Given the description of an element on the screen output the (x, y) to click on. 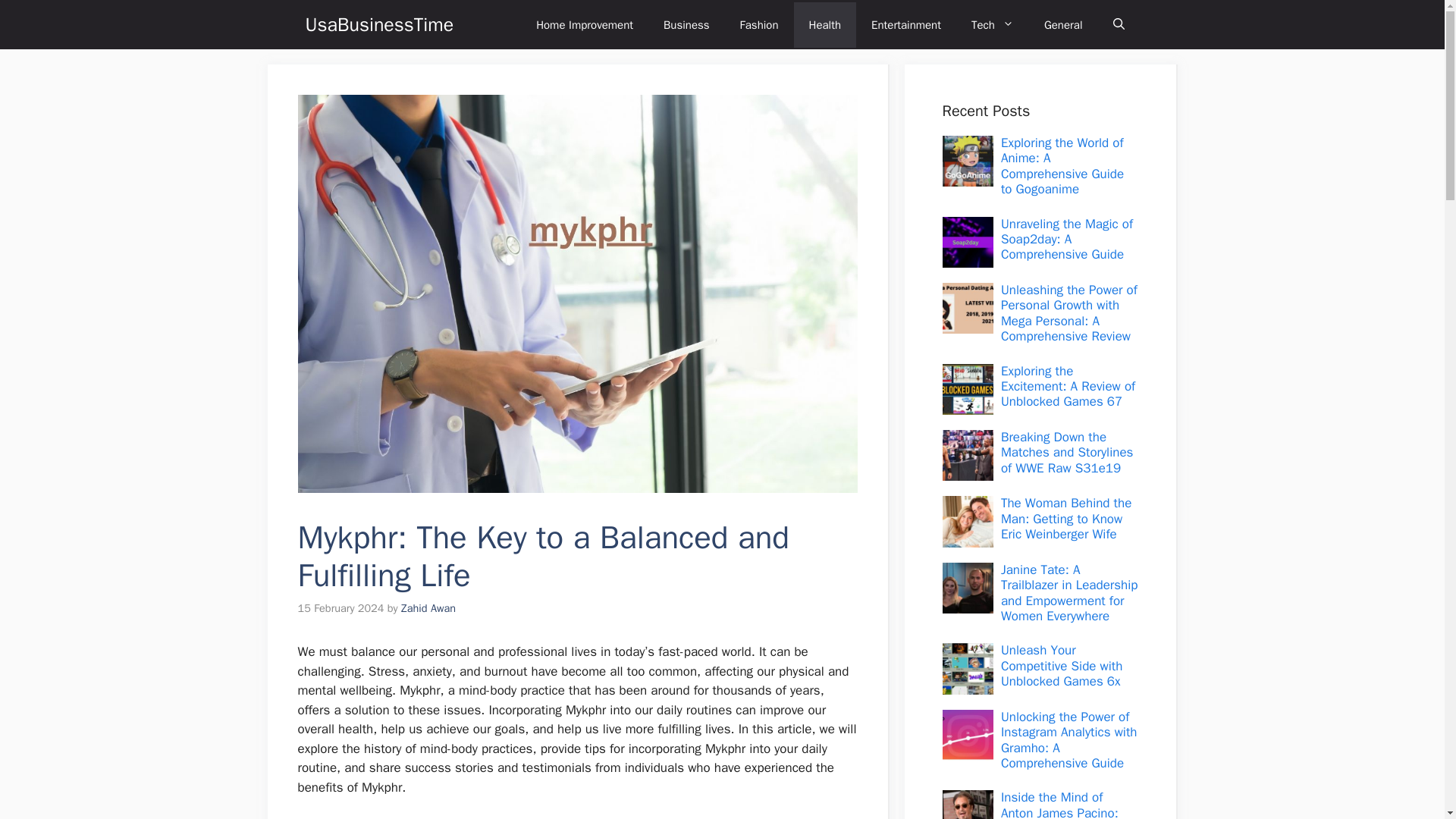
Health (825, 23)
General (1063, 23)
Entertainment (906, 23)
Tech (992, 23)
Zahid Awan (428, 608)
Fashion (759, 23)
Unleash Your Competitive Side with Unblocked Games 6x (1061, 665)
Home Improvement (584, 23)
Breaking Down the Matches and Storylines of WWE Raw S31e19 (1067, 452)
View all posts by Zahid Awan (428, 608)
Exploring the Excitement: A Review of Unblocked Games 67 (1068, 386)
